Given the description of an element on the screen output the (x, y) to click on. 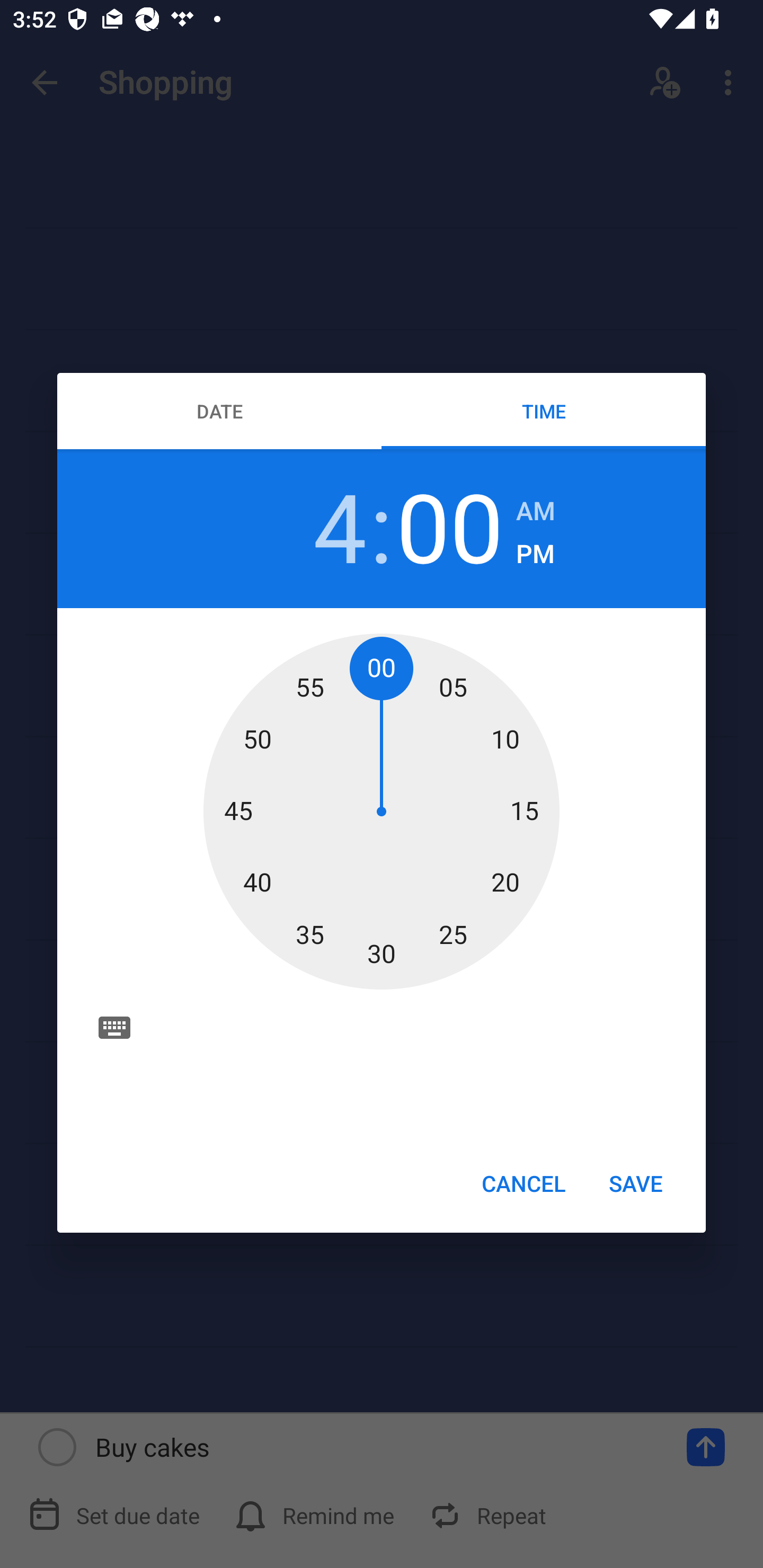
SAVE (635, 1182)
